Given the description of an element on the screen output the (x, y) to click on. 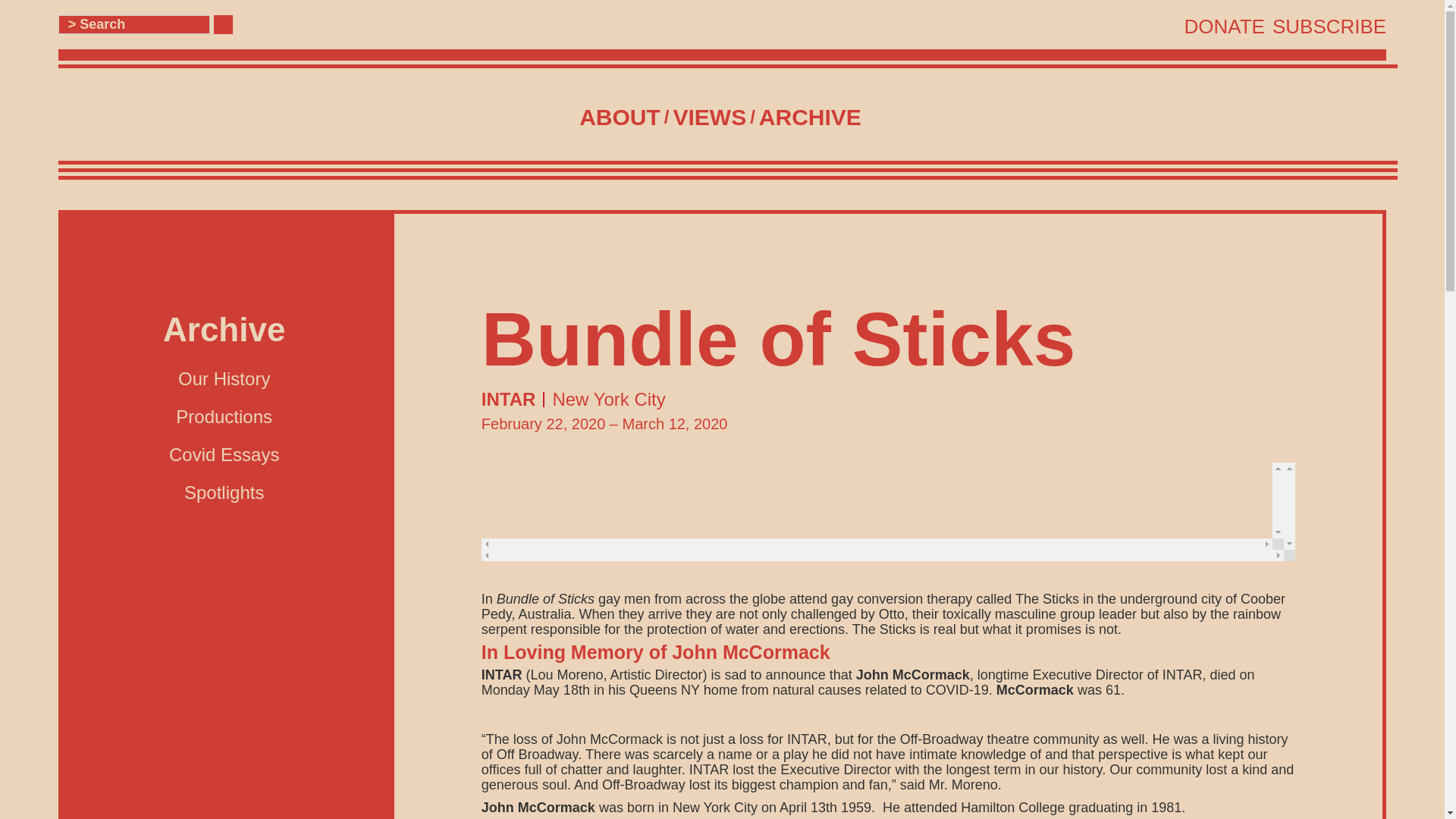
Our History (223, 378)
Spotlights (223, 492)
VIEWS (708, 116)
SUBSCRIBE (1329, 26)
Productions (224, 416)
ABOUT (620, 116)
ARCHIVE (809, 116)
DONATE (1225, 26)
Covid Essays (223, 454)
